Given the description of an element on the screen output the (x, y) to click on. 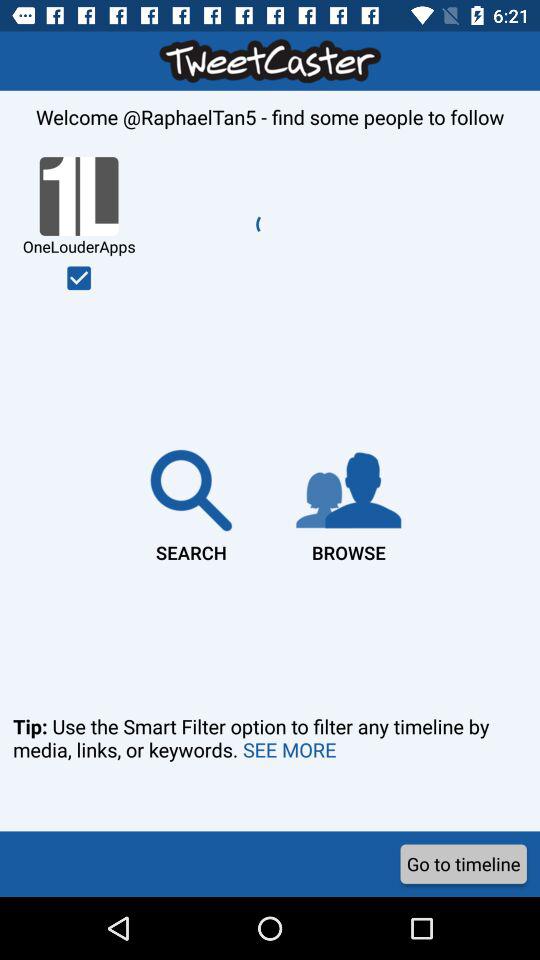
turn on the item to the left of the browse (191, 502)
